Given the description of an element on the screen output the (x, y) to click on. 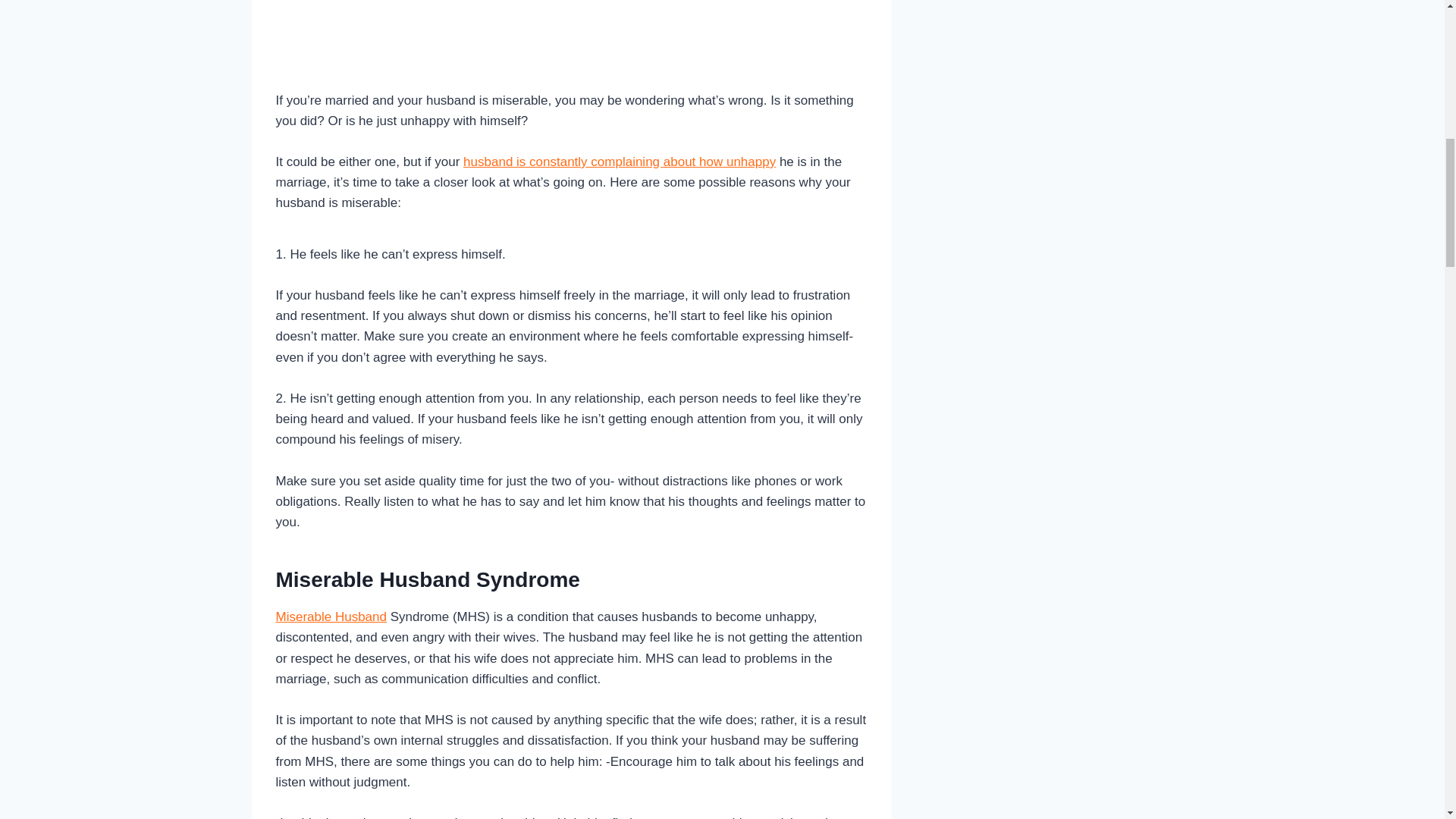
Miserable Husband (331, 616)
husband is constantly complaining about how unhappy (619, 161)
